Given the description of an element on the screen output the (x, y) to click on. 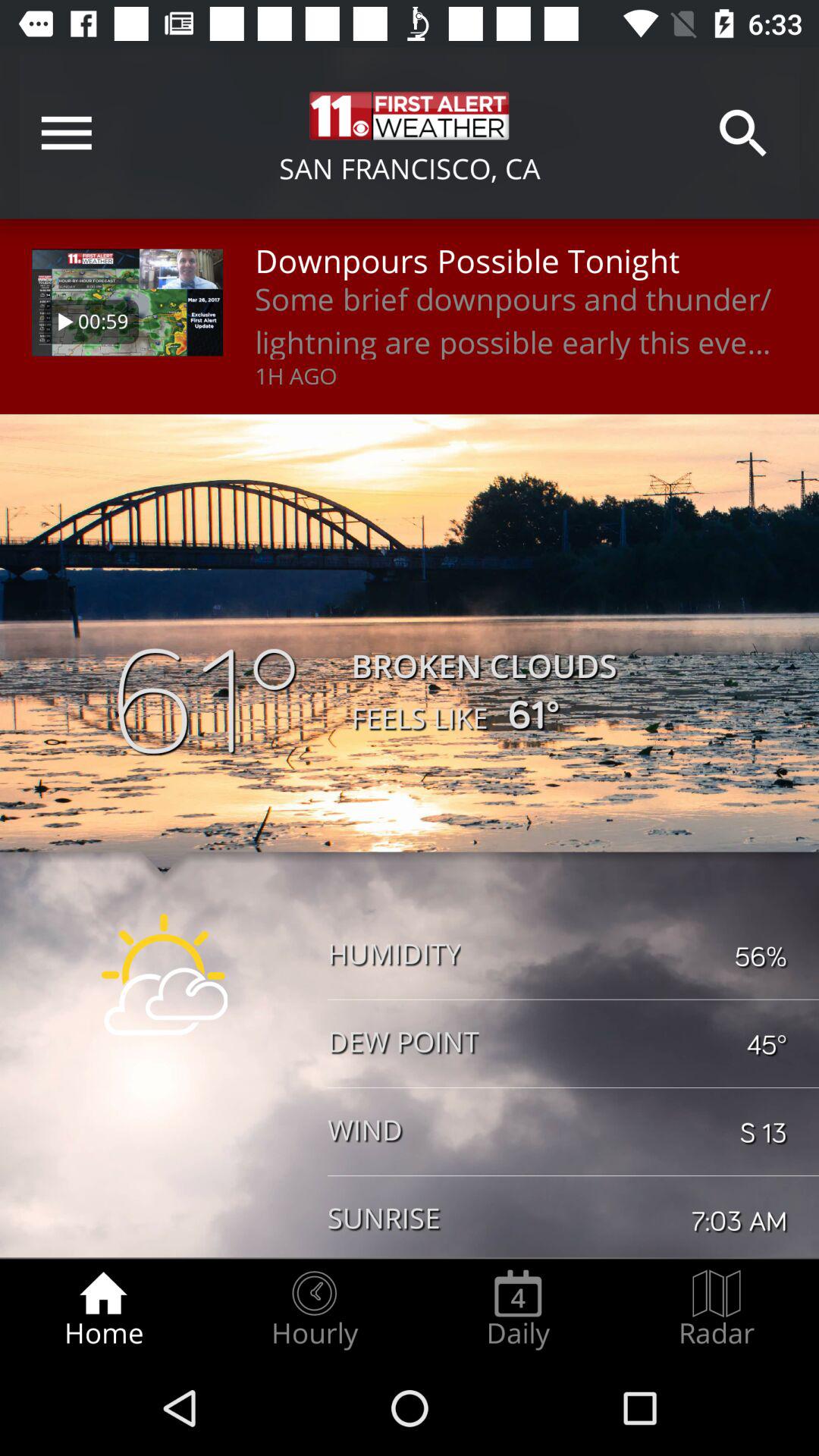
swipe to home item (103, 1309)
